Given the description of an element on the screen output the (x, y) to click on. 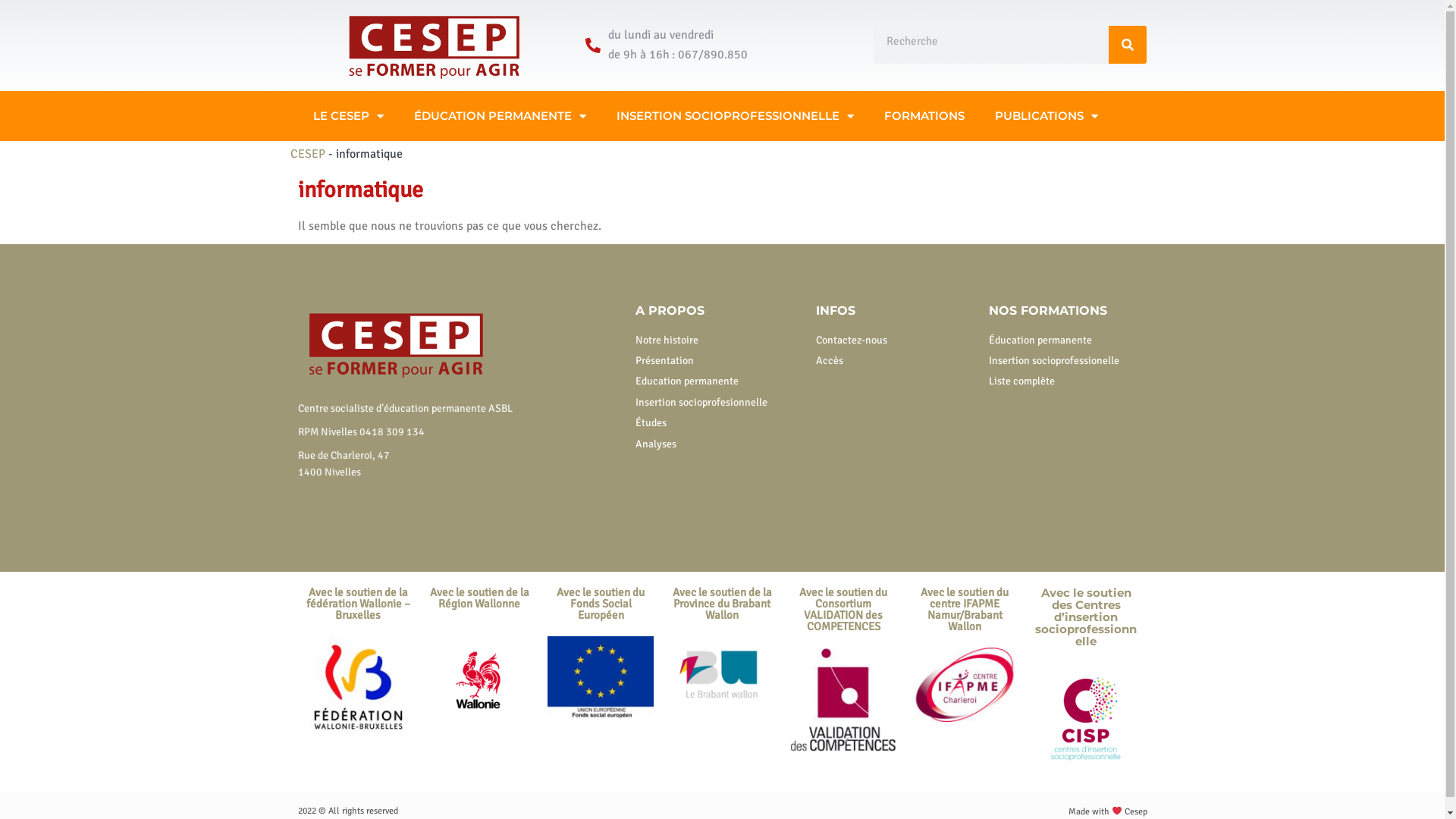
Notre histoire Element type: text (718, 340)
Insertion socioprofesionnelle Element type: text (718, 402)
Analyses Element type: text (718, 444)
Contactez-nous Element type: text (894, 340)
Education permanente Element type: text (718, 381)
LE CESEP Element type: text (347, 115)
FORMATIONS Element type: text (924, 115)
PUBLICATIONS Element type: text (1046, 115)
CESEP Element type: text (306, 153)
Insertion socioprofessionelle Element type: text (1067, 360)
INSERTION SOCIOPROFESSIONNELLE Element type: text (734, 115)
